Given the description of an element on the screen output the (x, y) to click on. 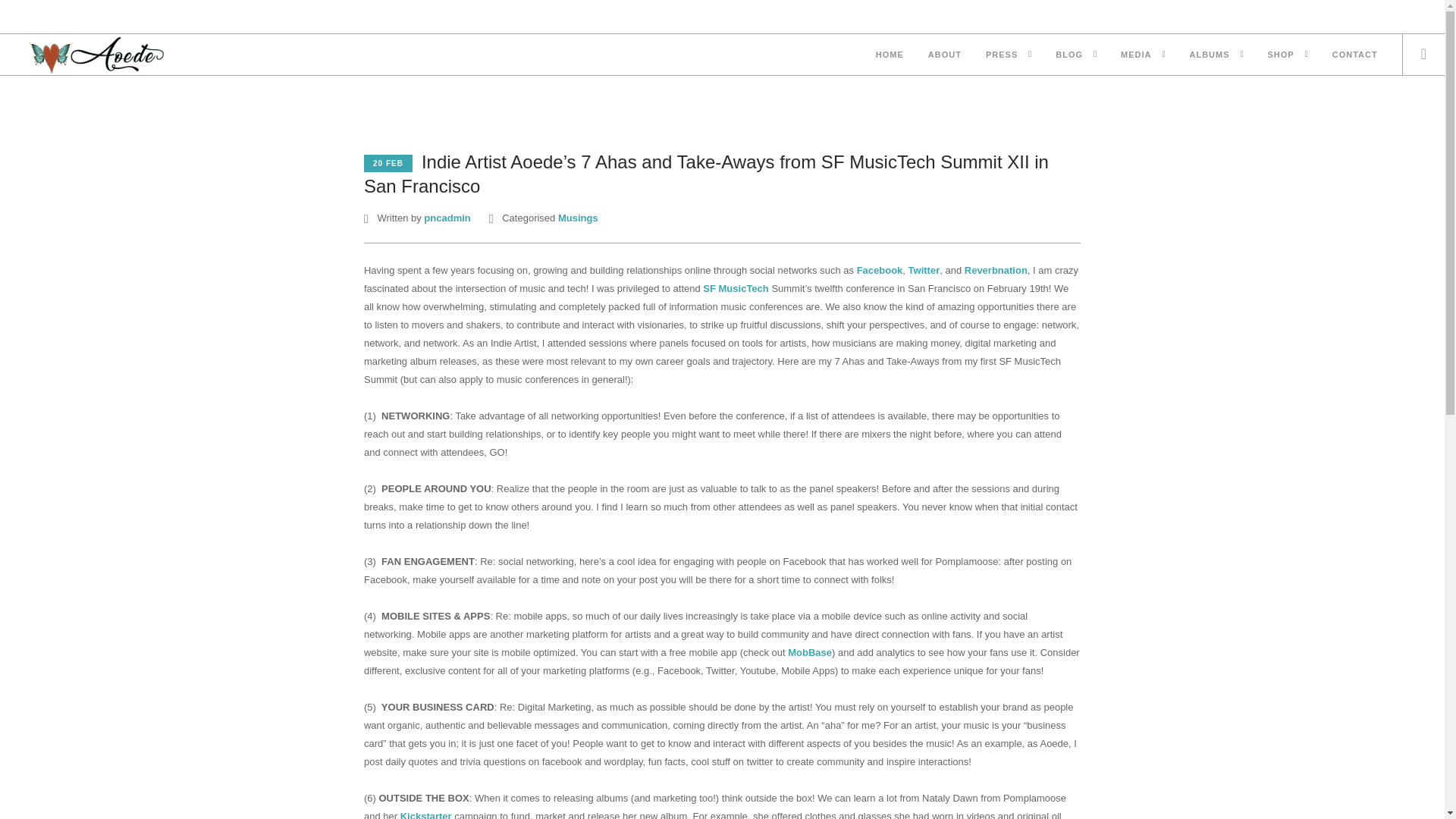
CONTACT (1354, 55)
MobBase (809, 652)
Kickstarter (425, 814)
Musings (577, 217)
Posts by pncadmin (446, 217)
ALBUMS (1208, 55)
Facebook (879, 270)
Reverbnation (995, 270)
pncadmin (446, 217)
SF MusicTech (735, 288)
